Given the description of an element on the screen output the (x, y) to click on. 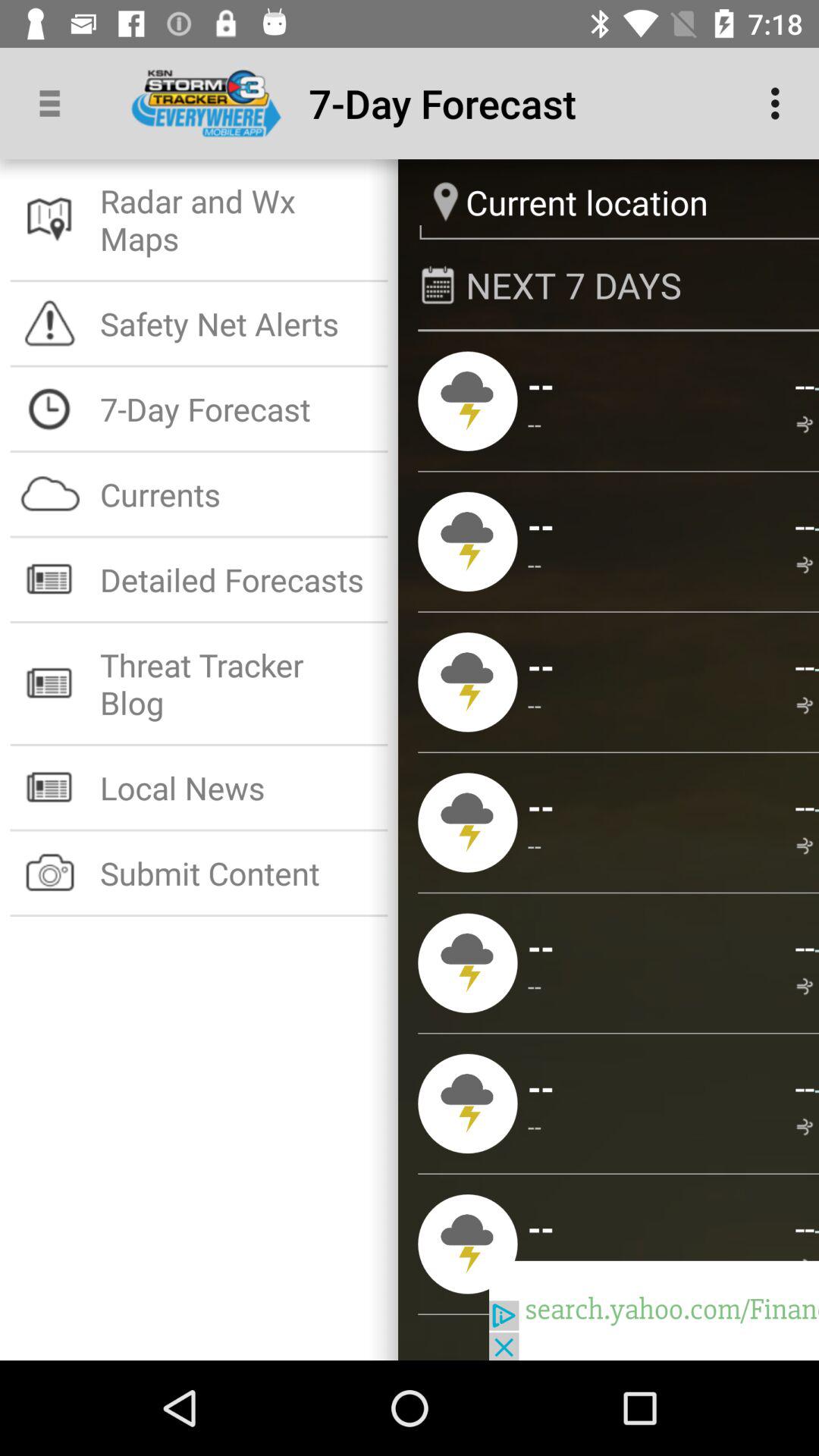
turn on the item next to 7-day forecast icon (779, 103)
